Given the description of an element on the screen output the (x, y) to click on. 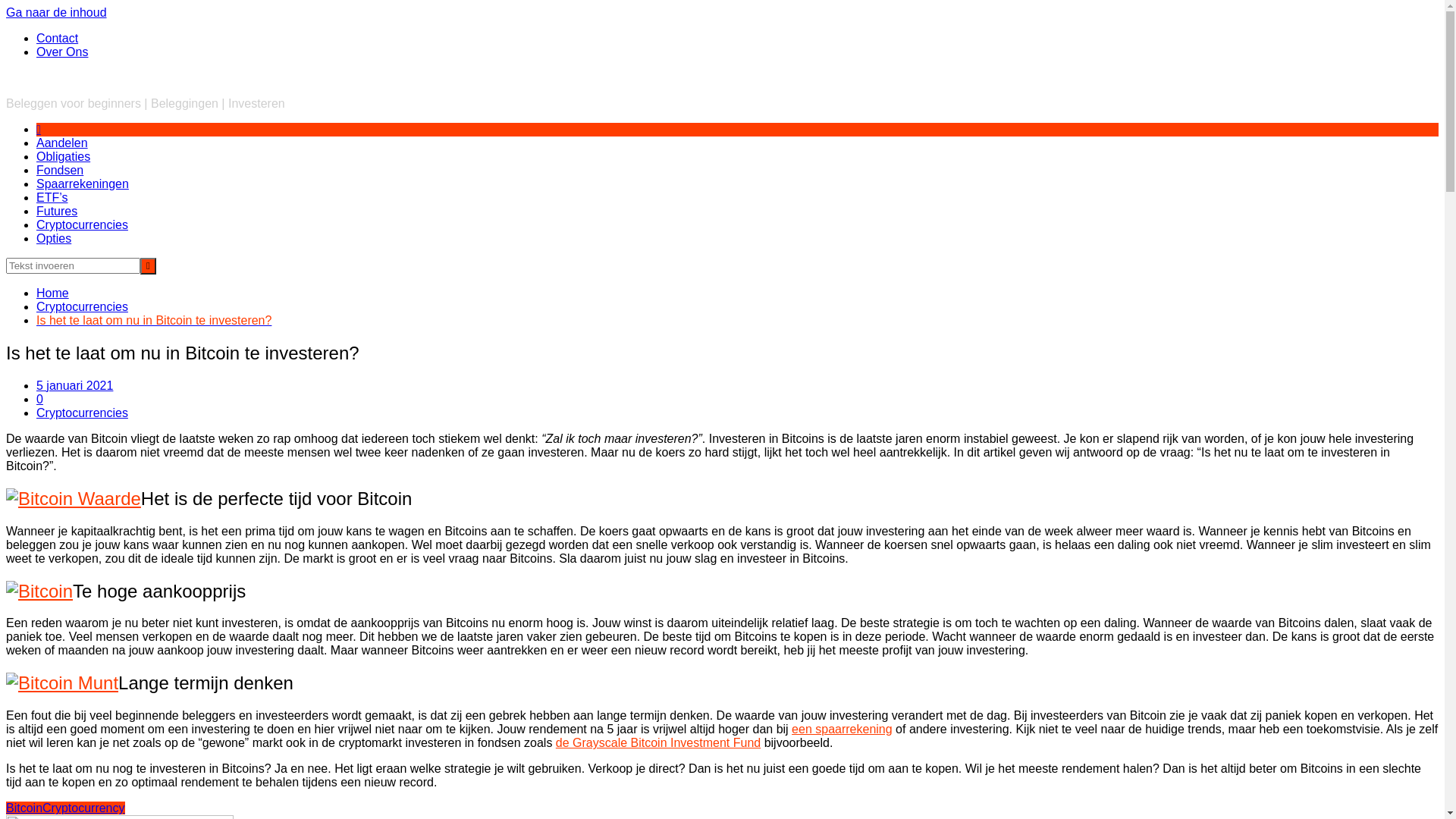
Cryptocurrencies Element type: text (82, 412)
Cryptocurrency Element type: text (83, 807)
de Grayscale Bitcoin Investment Fund Element type: text (657, 742)
Obligaties Element type: text (63, 156)
Fondsen Element type: text (59, 169)
0 Element type: text (39, 398)
Spaarrekeningen Element type: text (82, 183)
Cryptocurrencies Element type: text (82, 224)
Over Ons Element type: text (61, 51)
Futures Element type: text (56, 210)
Ga naar de inhoud Element type: text (56, 12)
Is het te laat om nu in Bitcoin te investeren? Element type: text (153, 319)
Cryptocurrencies Element type: text (82, 306)
Contact Element type: text (57, 37)
Home Element type: text (52, 292)
Opties Element type: text (53, 238)
Aandelen Element type: text (61, 142)
Bitcoin Element type: text (24, 807)
een spaarrekening Element type: text (841, 728)
5 januari 2021 Element type: text (74, 385)
Beleggen for Dummies Element type: text (67, 77)
